Given the description of an element on the screen output the (x, y) to click on. 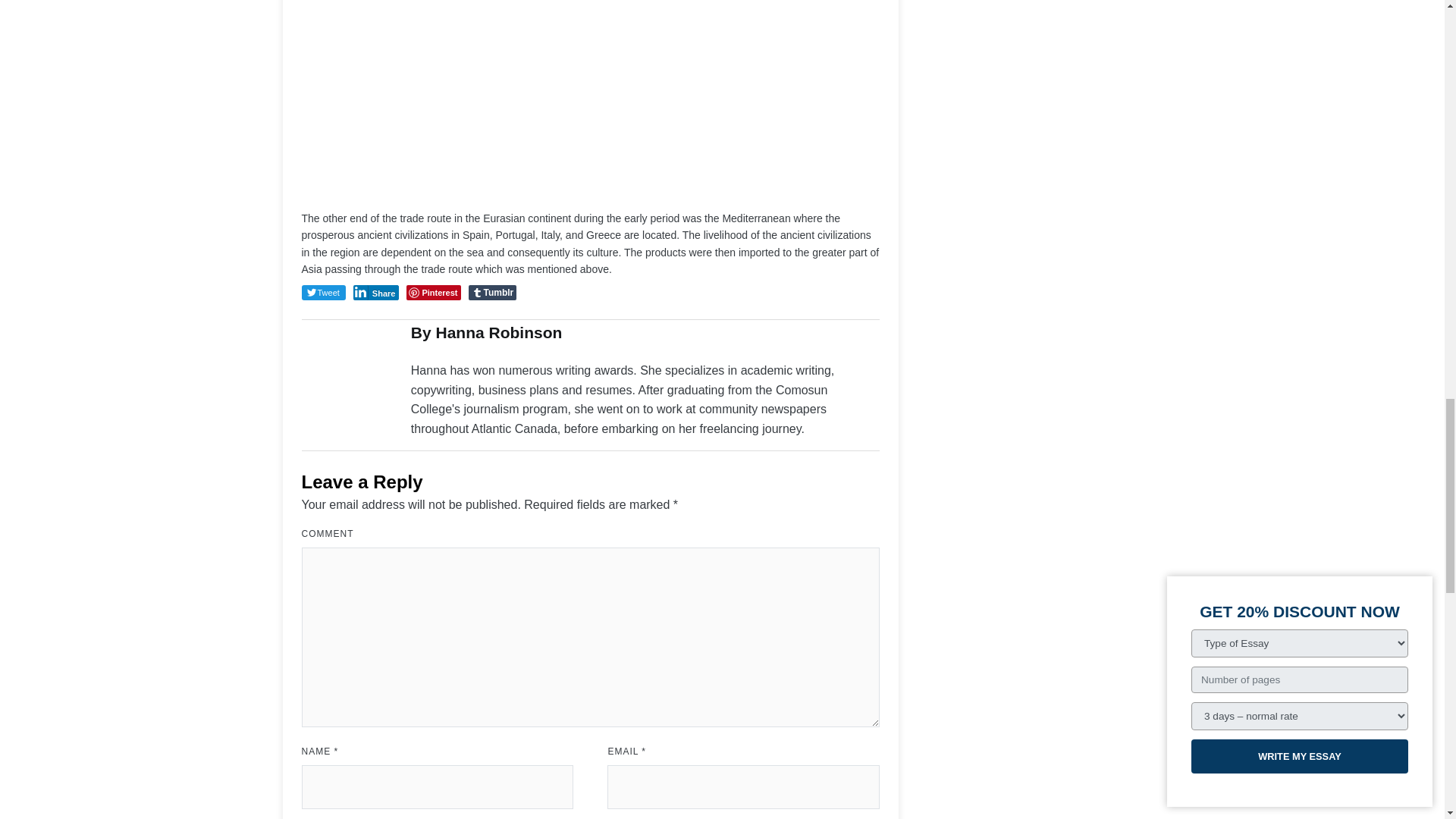
Share (375, 292)
Pinterest (433, 292)
Tumblr (492, 292)
Tweet (323, 292)
